Given the description of an element on the screen output the (x, y) to click on. 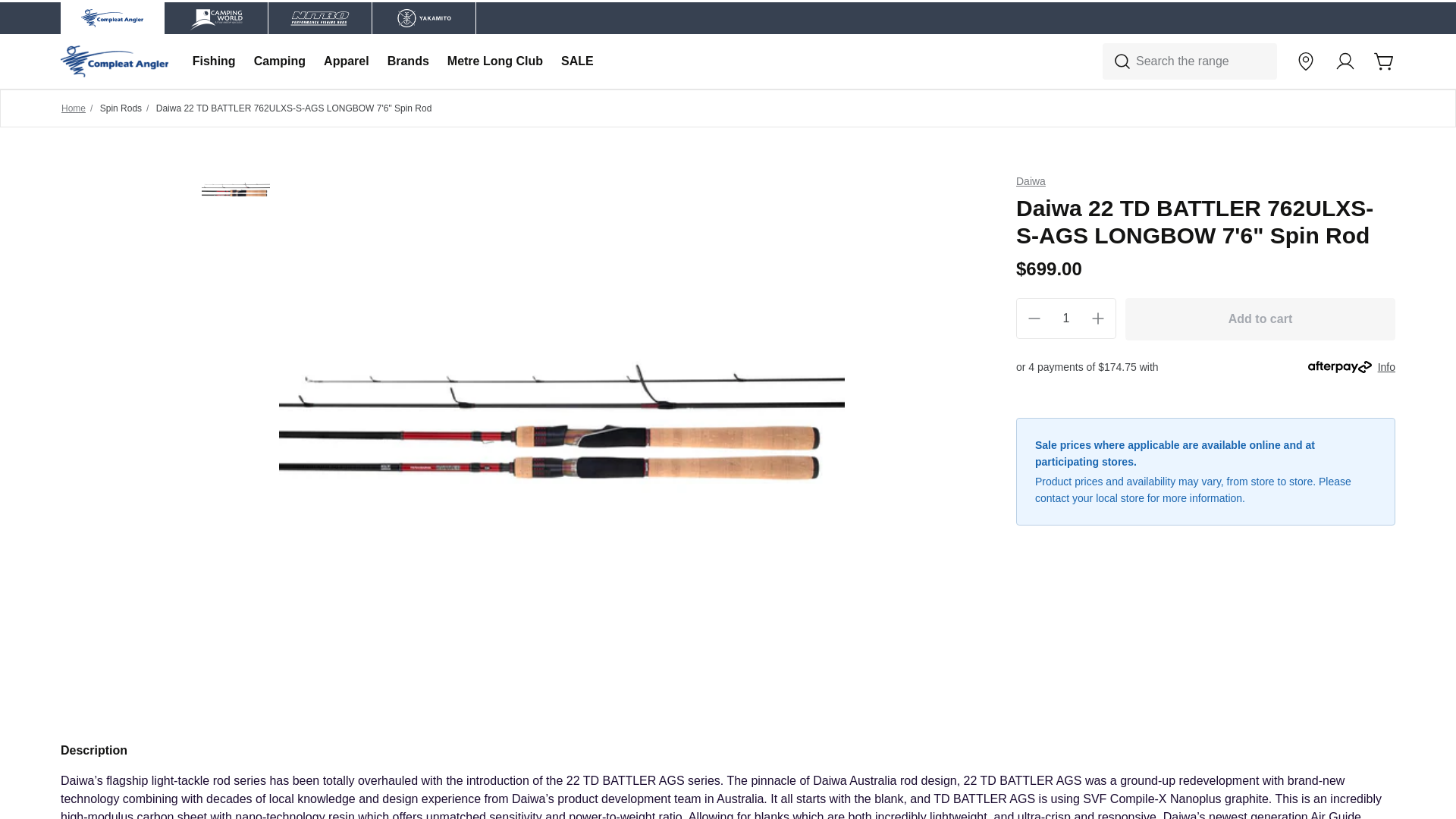
Account Dashboard (1345, 61)
Camping (279, 61)
1 (1066, 318)
Compleat Angler Australia (114, 60)
Metre Long Club (494, 61)
